Given the description of an element on the screen output the (x, y) to click on. 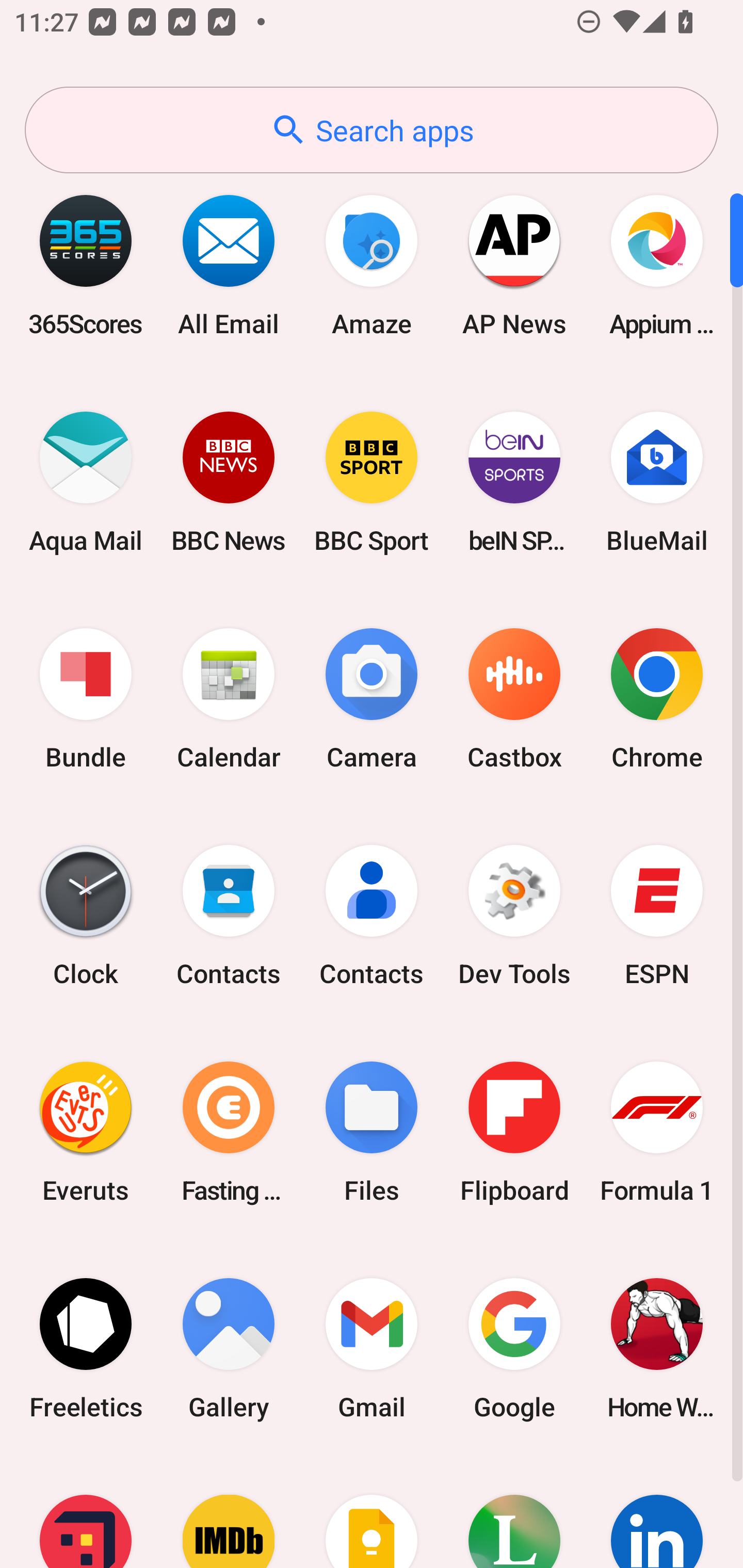
  Search apps (371, 130)
365Scores (85, 264)
All Email (228, 264)
Amaze (371, 264)
AP News (514, 264)
Appium Settings (656, 264)
Aqua Mail (85, 482)
BBC News (228, 482)
BBC Sport (371, 482)
beIN SPORTS (514, 482)
BlueMail (656, 482)
Bundle (85, 699)
Calendar (228, 699)
Camera (371, 699)
Castbox (514, 699)
Chrome (656, 699)
Clock (85, 915)
Contacts (228, 915)
Contacts (371, 915)
Dev Tools (514, 915)
ESPN (656, 915)
Everuts (85, 1131)
Fasting Coach (228, 1131)
Files (371, 1131)
Flipboard (514, 1131)
Formula 1 (656, 1131)
Freeletics (85, 1348)
Gallery (228, 1348)
Gmail (371, 1348)
Google (514, 1348)
Home Workout (656, 1348)
Hotels.com (85, 1512)
IMDb (228, 1512)
Keep Notes (371, 1512)
Lifesum (514, 1512)
LinkedIn (656, 1512)
